Given the description of an element on the screen output the (x, y) to click on. 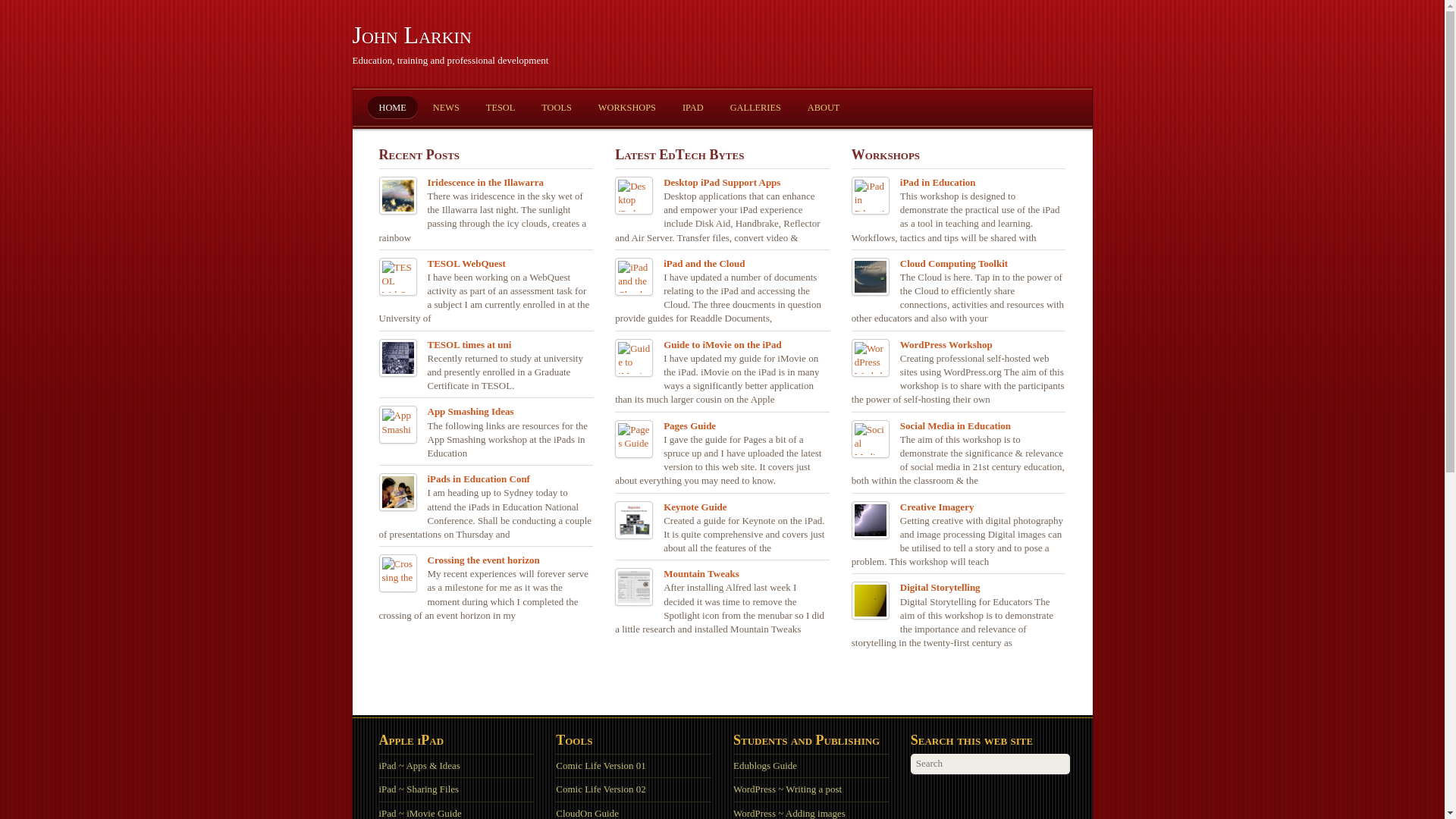
Digital Storytelling Element type: text (940, 587)
ABOUT Element type: text (823, 107)
GALLERIES Element type: text (755, 107)
TOOLS Element type: text (556, 107)
App Smashing Ideas Element type: text (470, 411)
HOME Element type: text (392, 107)
Social Media in Education Element type: text (955, 426)
IPAD Element type: text (693, 107)
TESOL WebQuest Element type: text (466, 263)
TESOL times at uni Element type: text (469, 344)
Crossing the event horizon Element type: text (483, 560)
NEWS Element type: text (445, 107)
iPad and the Cloud Element type: text (703, 263)
WORKSHOPS Element type: text (626, 107)
iPad ~ Sharing Files Element type: text (419, 788)
Pages Guide Element type: text (689, 426)
Creative Imagery Element type: text (937, 507)
iPads in Education Conf Element type: text (478, 479)
John Larkin Element type: text (410, 34)
WordPress Workshop Element type: text (946, 344)
Edublogs Guide Element type: text (765, 765)
Comic Life Version 01 Element type: text (600, 765)
Keynote Guide Element type: text (694, 507)
Comic Life Version 02 Element type: text (600, 788)
Mountain Tweaks Element type: text (701, 573)
Desktop iPad Support Apps Element type: text (721, 182)
Iridescence in the Illawarra Element type: text (485, 182)
TESOL Element type: text (500, 107)
iPad in Education Element type: text (937, 182)
WordPress ~ Writing a post Element type: text (787, 788)
iPad ~ Apps & Ideas Element type: text (419, 765)
Guide to iMovie on the iPad Element type: text (722, 344)
Cloud Computing Toolkit Element type: text (953, 263)
